Given the description of an element on the screen output the (x, y) to click on. 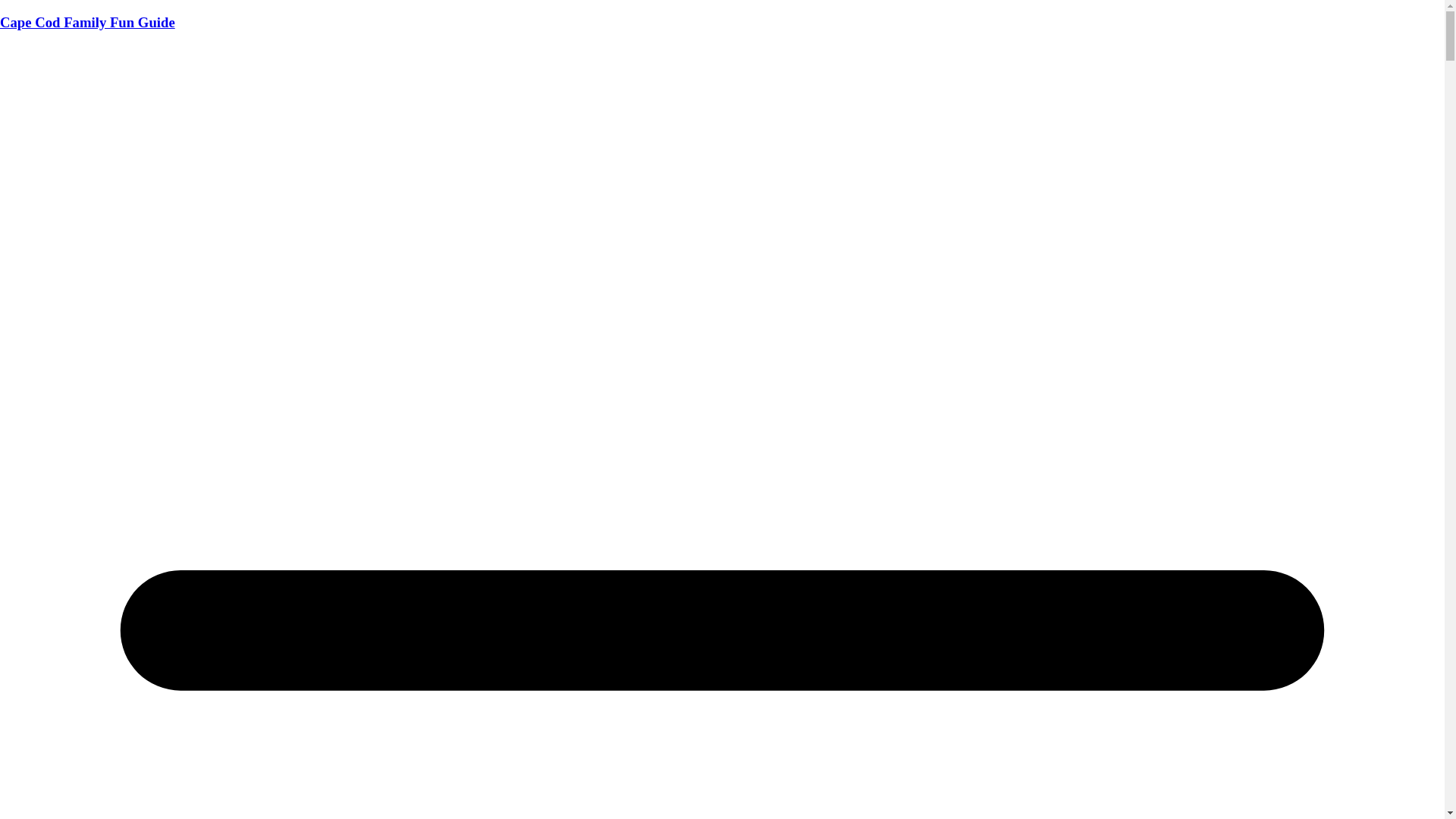
Advertisement Element type: hover (721, 150)
Cape Cod Family Fun Guide Element type: text (87, 22)
